Given the description of an element on the screen output the (x, y) to click on. 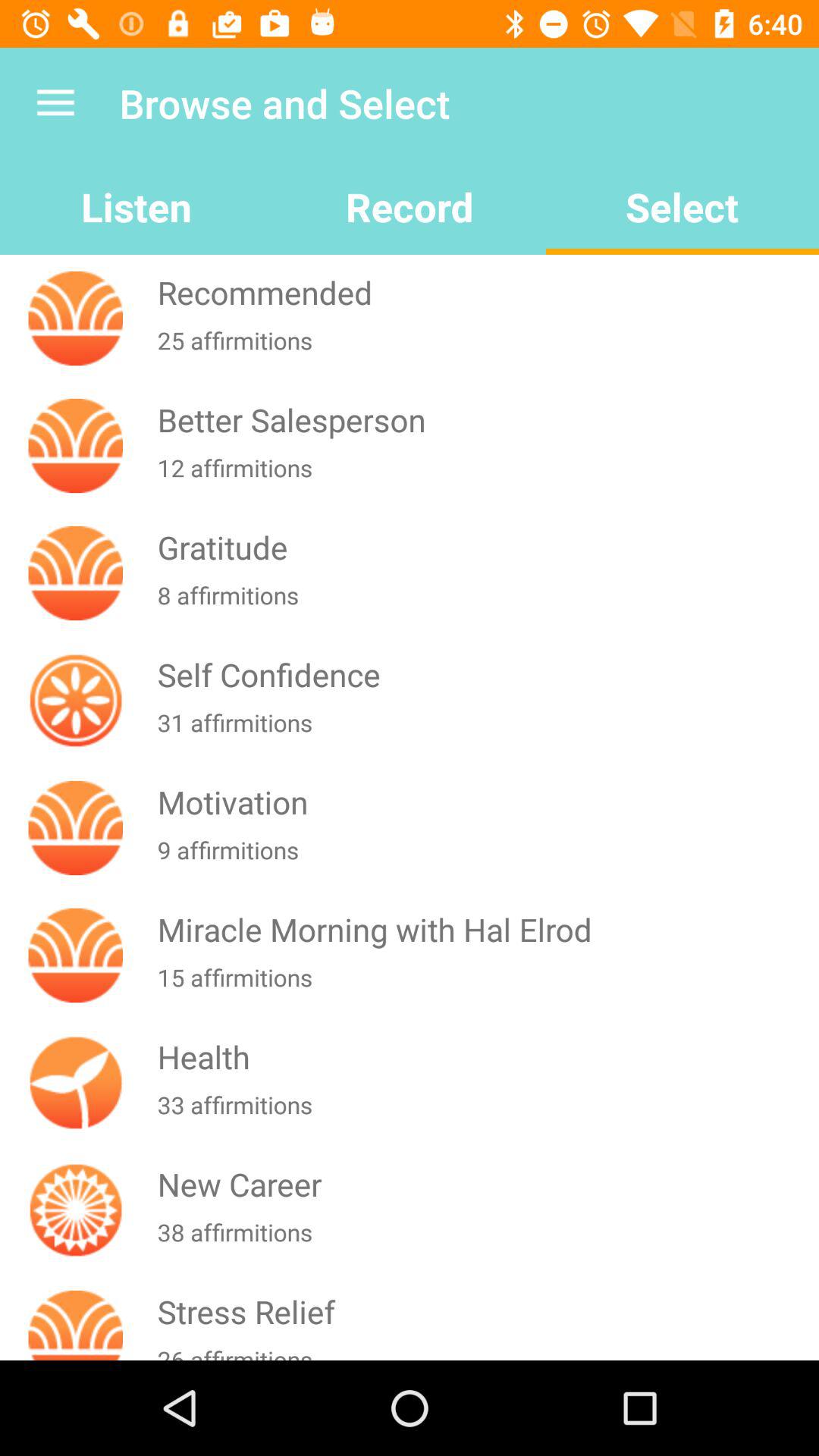
swipe until the 15 affirmitions (484, 986)
